Given the description of an element on the screen output the (x, y) to click on. 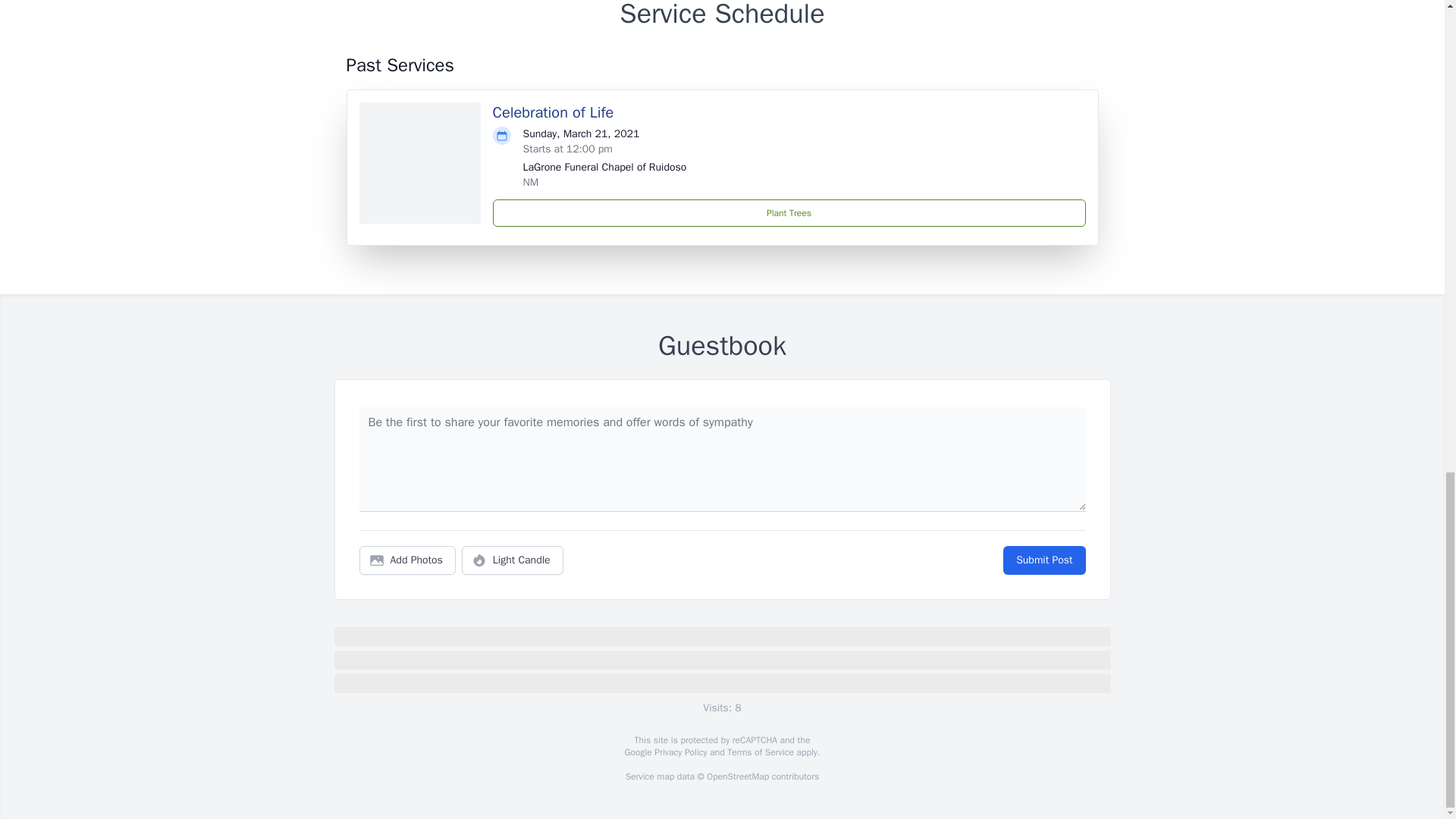
OpenStreetMap (737, 776)
Plant Trees (789, 212)
Terms of Service (759, 752)
Submit Post (1043, 560)
Privacy Policy (679, 752)
Add Photos (407, 560)
Light Candle (512, 560)
NM (530, 182)
